Given the description of an element on the screen output the (x, y) to click on. 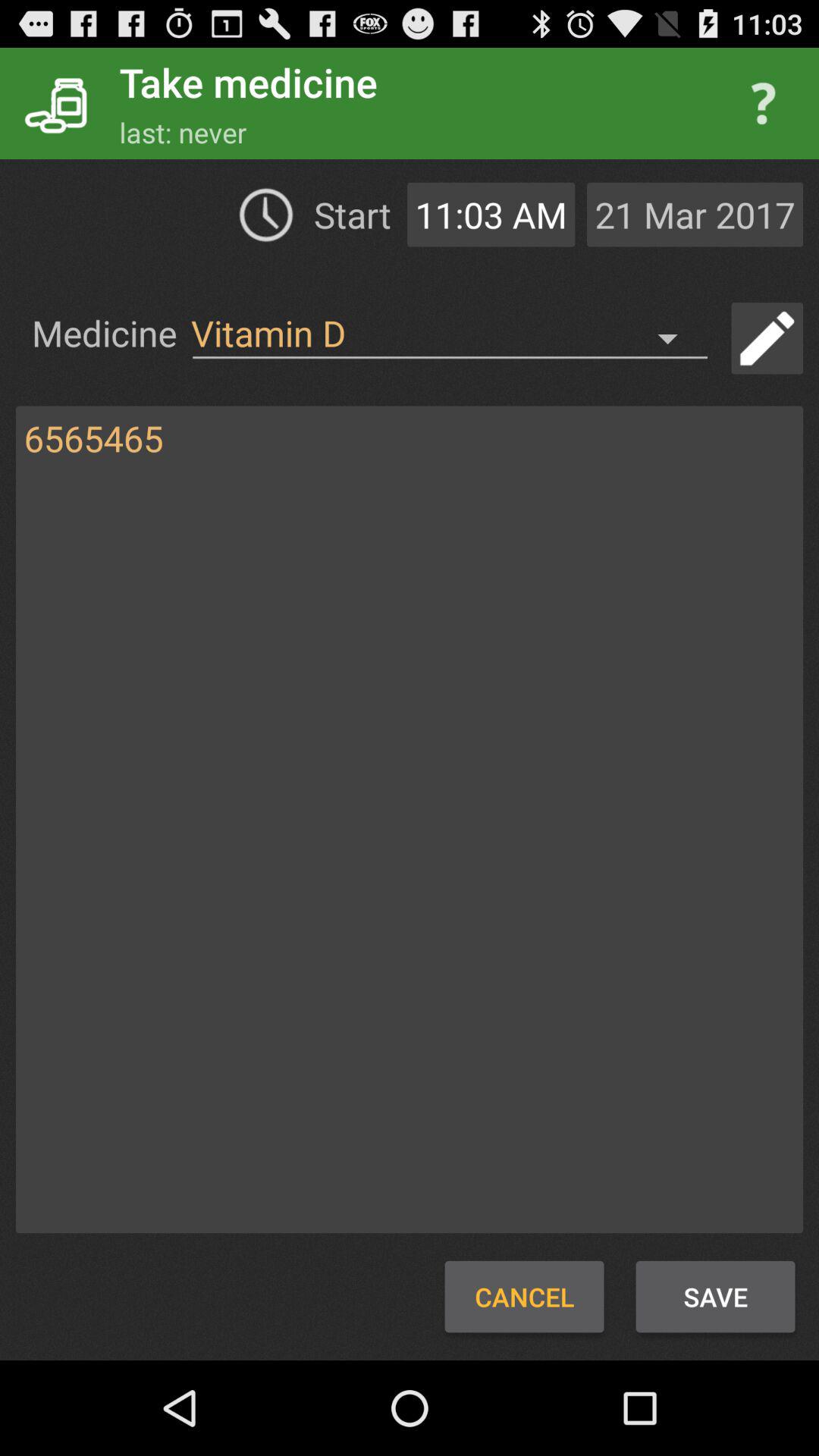
edit button (767, 338)
